Given the description of an element on the screen output the (x, y) to click on. 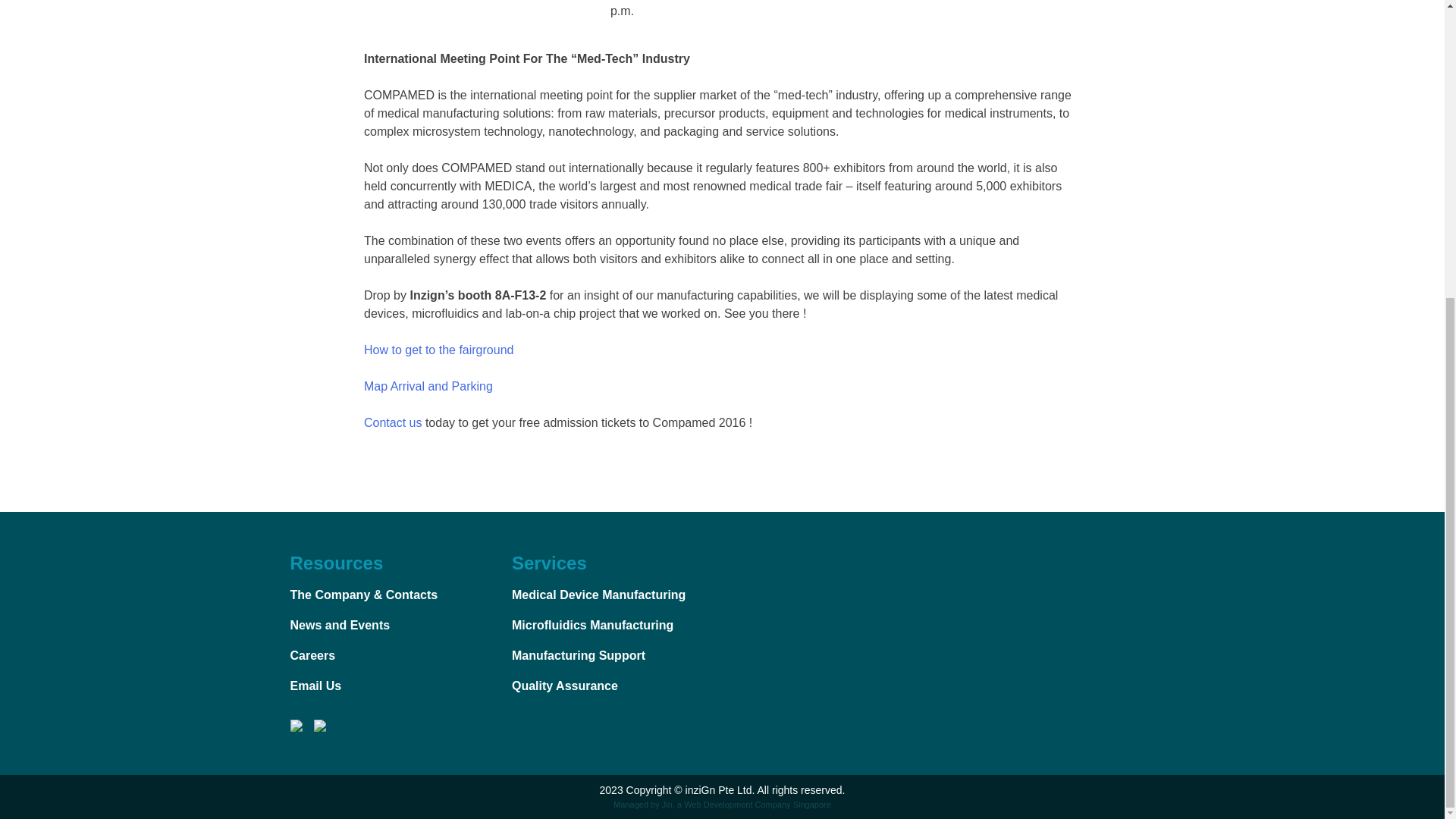
Careers (311, 655)
Email Us (314, 685)
News and Events (339, 625)
Contact us (393, 422)
How to get to the fairground (438, 349)
Map Arrival and Parking (428, 386)
